Given the description of an element on the screen output the (x, y) to click on. 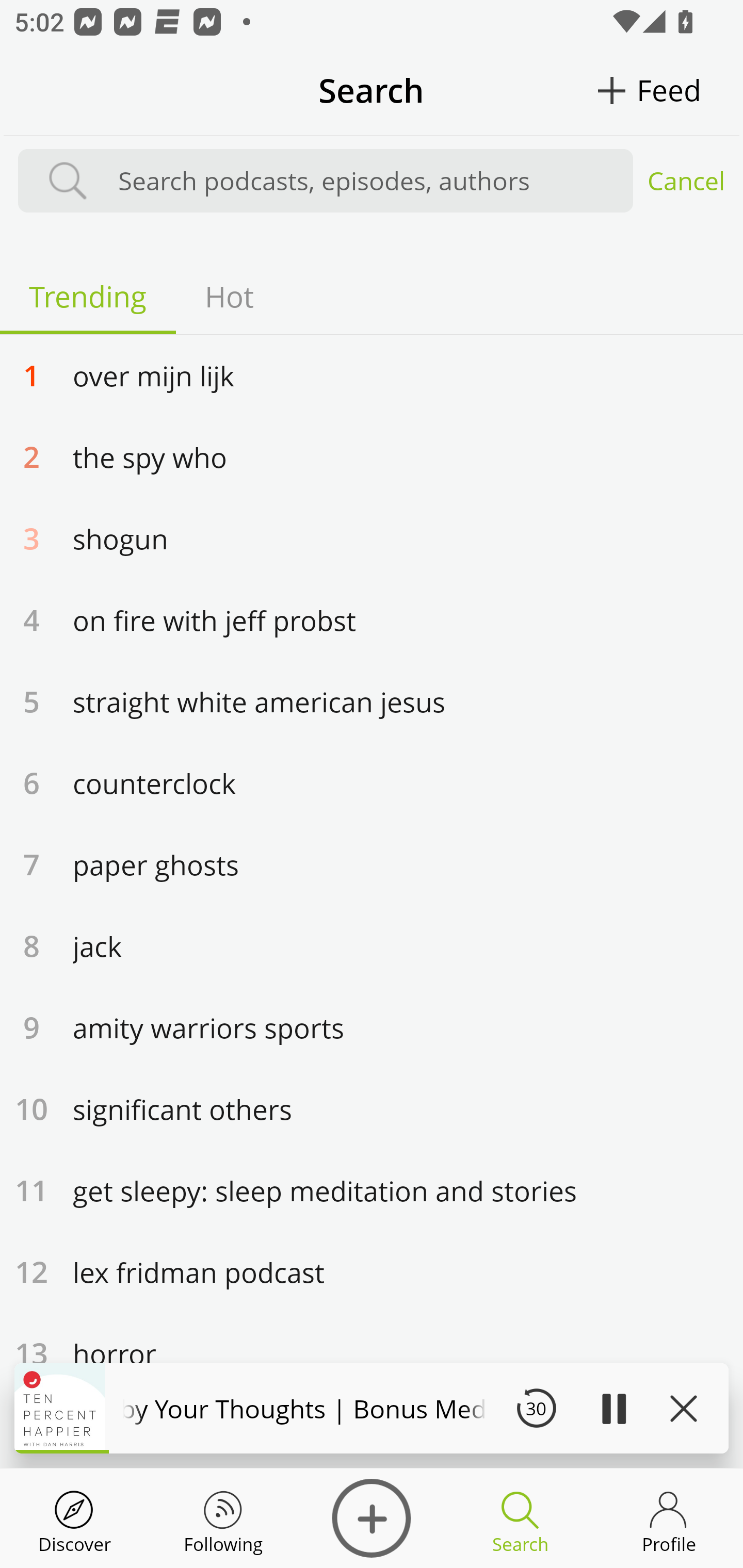
Feed (668, 90)
Cancel (686, 180)
Search podcasts, episodes, authors (366, 180)
Trending (88, 295)
Hot (229, 295)
1 over mijn lijk (371, 374)
2 the spy who (371, 456)
3 shogun (371, 537)
4 on fire with jeff probst (371, 619)
5 straight white american jesus (371, 700)
6 counterclock (371, 782)
7 paper ghosts (371, 863)
8 jack (371, 945)
9 amity warriors sports (371, 1026)
10 significant others (371, 1108)
11 get sleepy: sleep meditation and stories (371, 1189)
12 lex fridman podcast (371, 1271)
Play (613, 1407)
30 Seek Backward (536, 1407)
Discover (74, 1518)
Discover Following (222, 1518)
Discover (371, 1518)
Discover Profile (668, 1518)
